Given the description of an element on the screen output the (x, y) to click on. 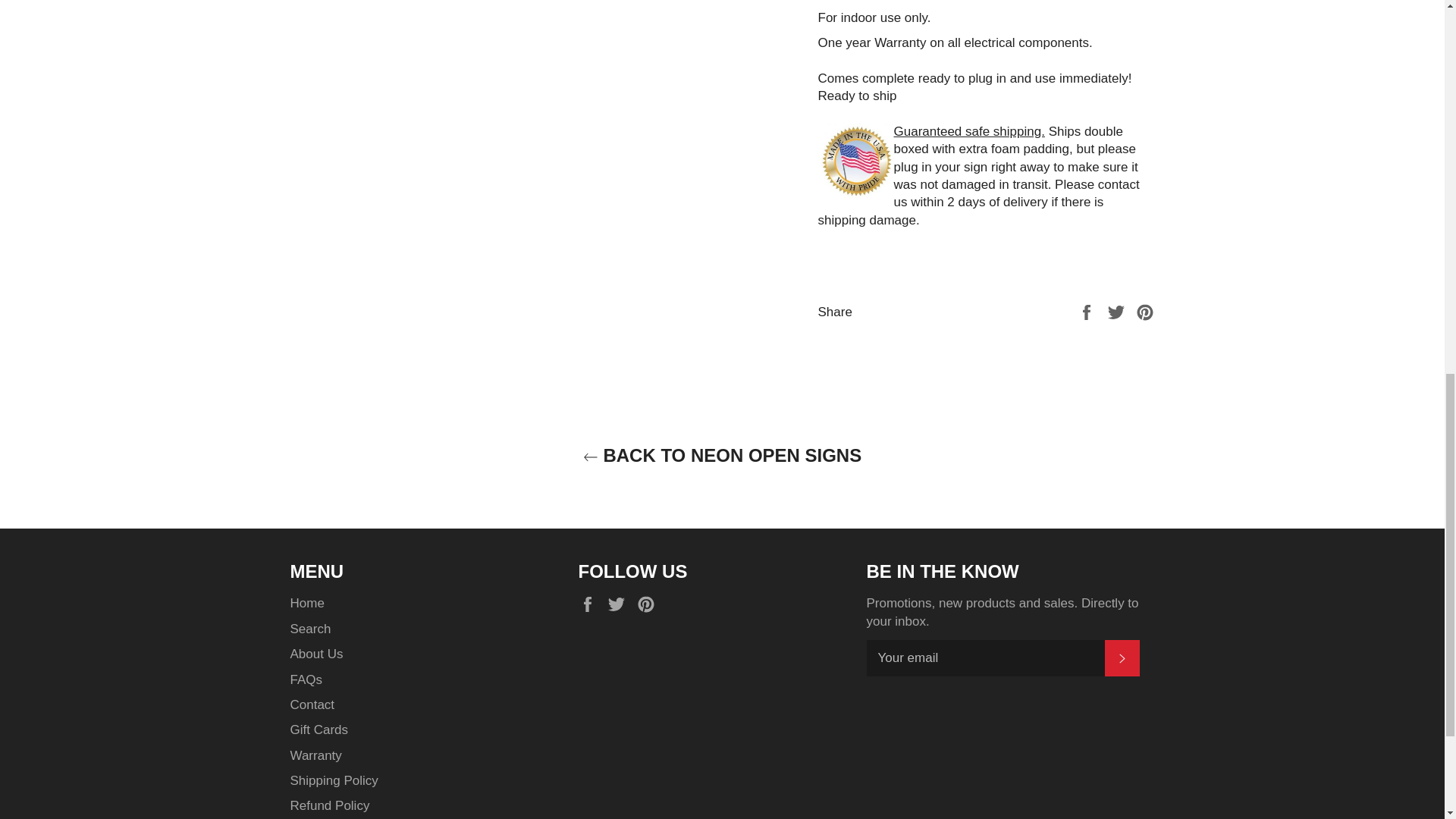
Fire House Neon Signs on Pinterest (649, 603)
Fire House Neon Signs on Facebook (591, 603)
Tweet on Twitter (1117, 311)
Pin on Pinterest (1144, 311)
Share on Facebook (1088, 311)
Fire House Neon Signs on Twitter (620, 603)
